Given the description of an element on the screen output the (x, y) to click on. 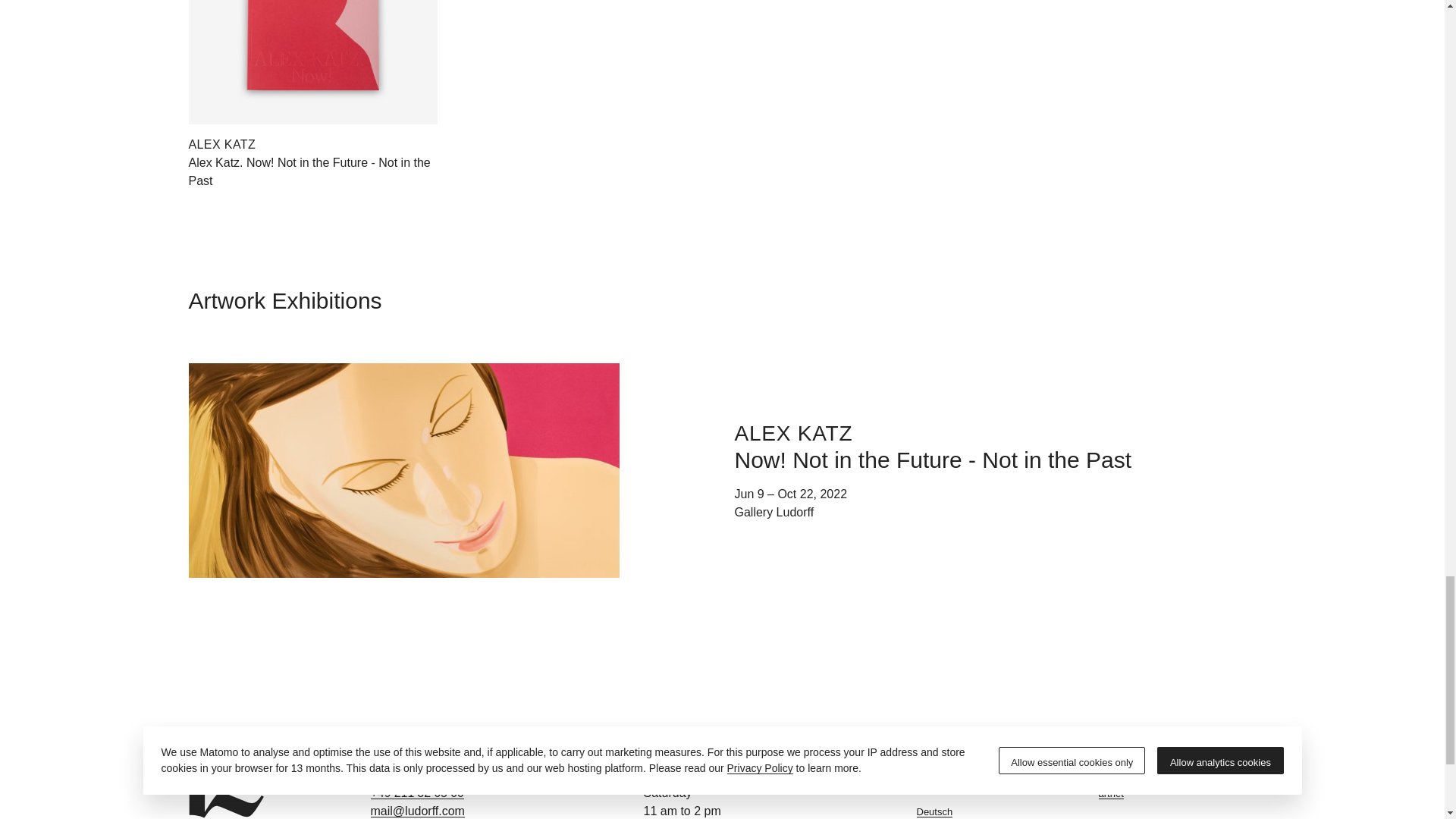
ALEX KATZ (792, 432)
Facebook (1176, 756)
Now! Not in the Future - Not in the Past (932, 459)
Artsy (1176, 738)
Instagram (1176, 775)
Alex Katz. Now! Not in the Future - Not in the Past (308, 171)
ALEX KATZ (221, 144)
